Given the description of an element on the screen output the (x, y) to click on. 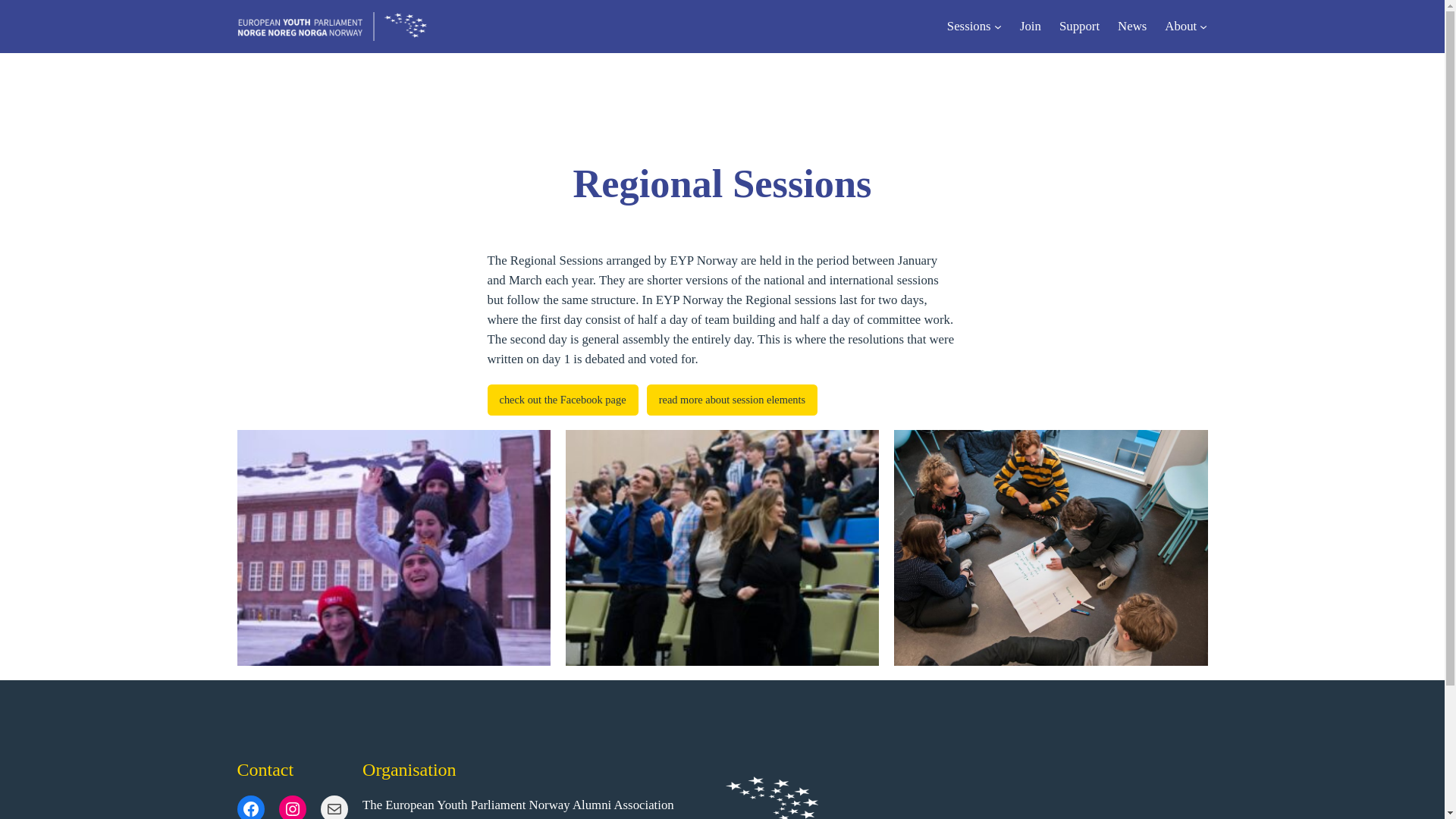
Instagram (292, 807)
About (1180, 26)
check out the Facebook page (561, 400)
Sessions (969, 26)
read more about session elements (731, 400)
Facebook (249, 807)
Join (1030, 26)
News (1132, 26)
Mail (333, 807)
Support (1079, 26)
